Given the description of an element on the screen output the (x, y) to click on. 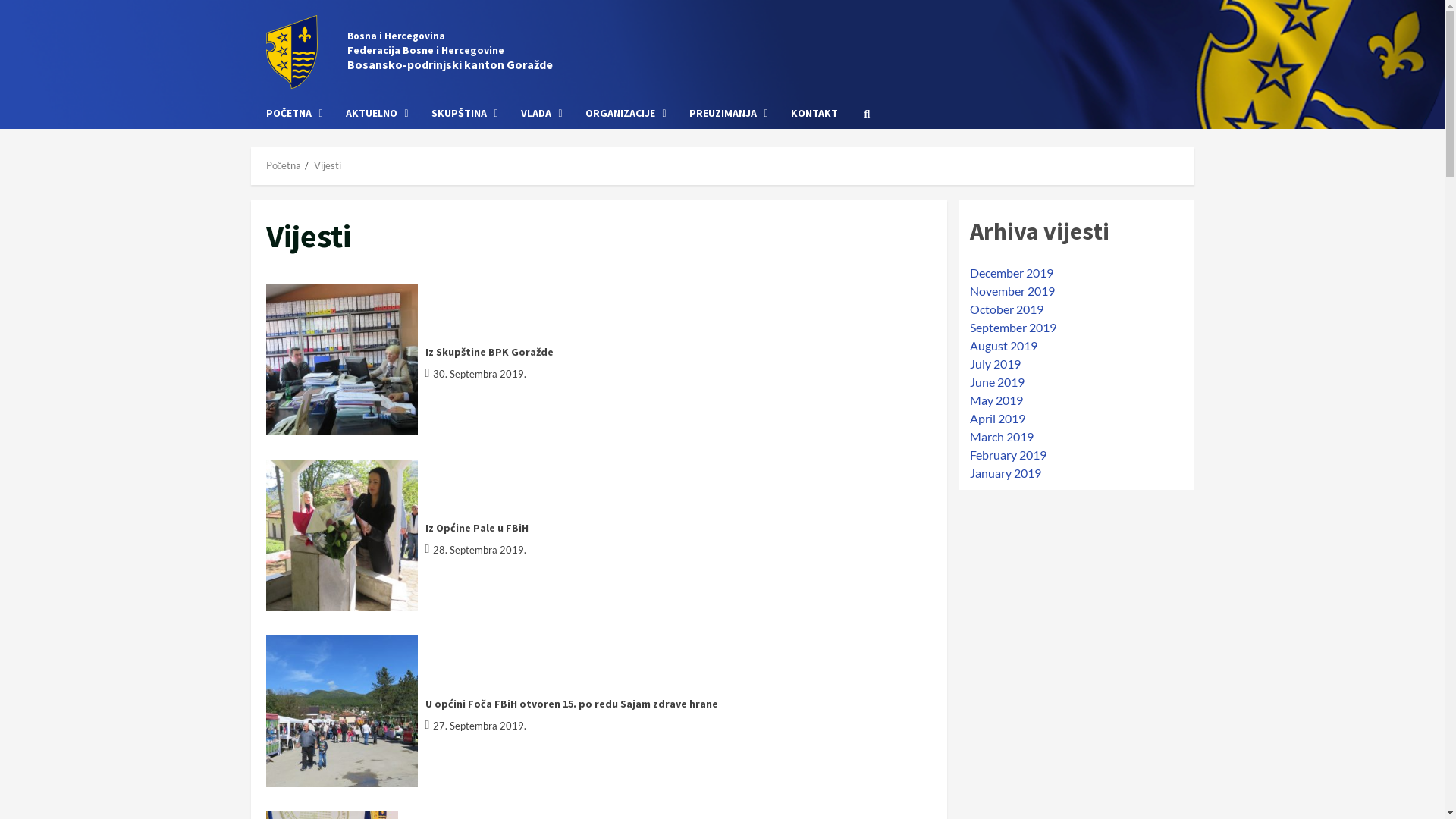
July 2019 Element type: text (994, 363)
April 2019 Element type: text (996, 418)
June 2019 Element type: text (996, 381)
Search Element type: hover (867, 112)
AKTUELNO Element type: text (376, 112)
May 2019 Element type: text (995, 399)
September 2019 Element type: text (1012, 327)
December 2019 Element type: text (1010, 272)
PREUZIMANJA Element type: text (728, 112)
January 2019 Element type: text (1004, 472)
KONTAKT Element type: text (808, 112)
October 2019 Element type: text (1005, 308)
ORGANIZACIJE Element type: text (625, 112)
VLADA Element type: text (541, 112)
Pretraga Element type: text (831, 164)
August 2019 Element type: text (1002, 345)
March 2019 Element type: text (1000, 436)
November 2019 Element type: text (1011, 290)
February 2019 Element type: text (1007, 454)
Vijesti Element type: text (327, 165)
